Given the description of an element on the screen output the (x, y) to click on. 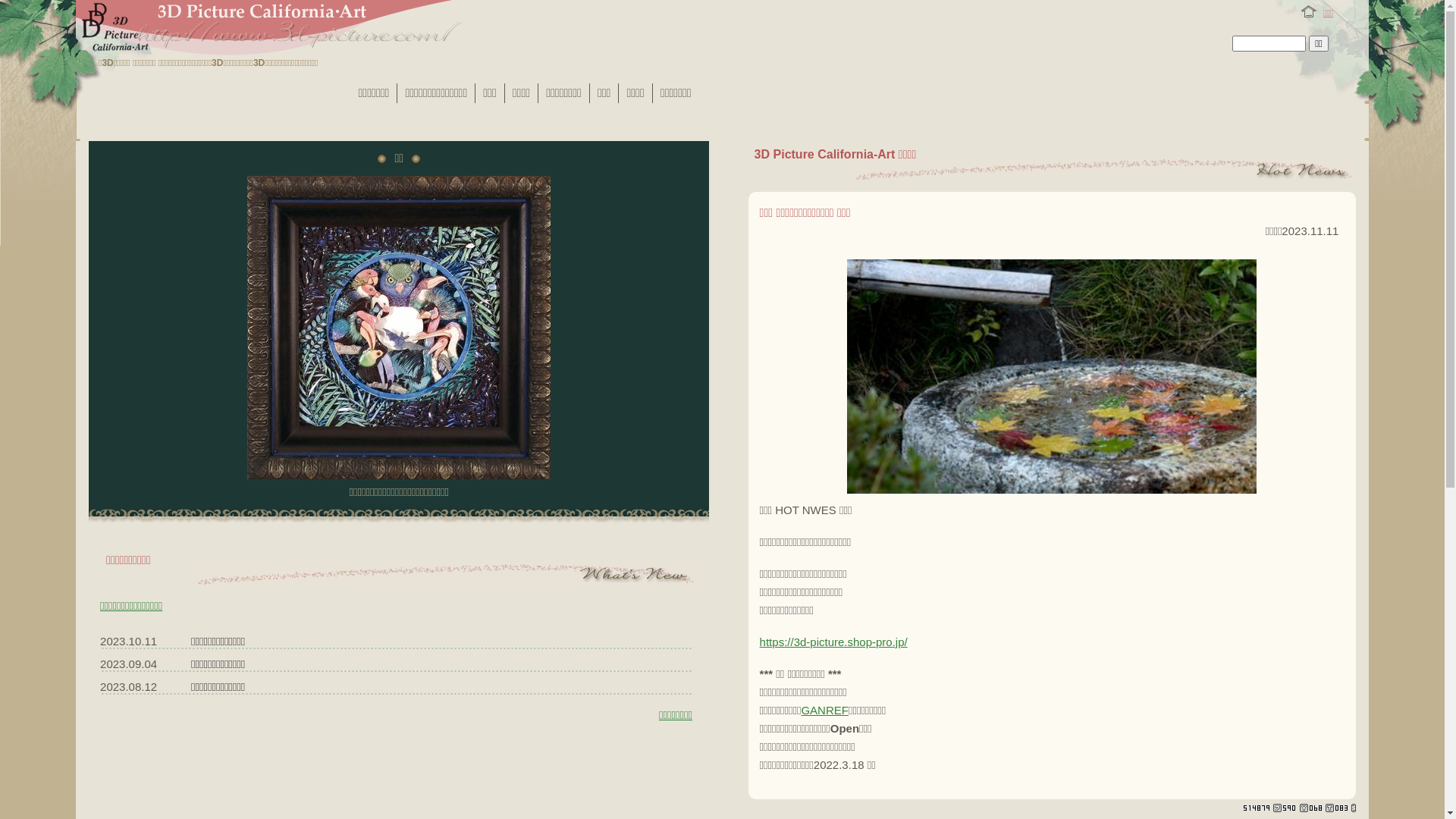
GANREF Element type: text (824, 709)
null Element type: hover (1051, 376)
https://3d-picture.shop-pro.jp/ Element type: text (833, 641)
